Given the description of an element on the screen output the (x, y) to click on. 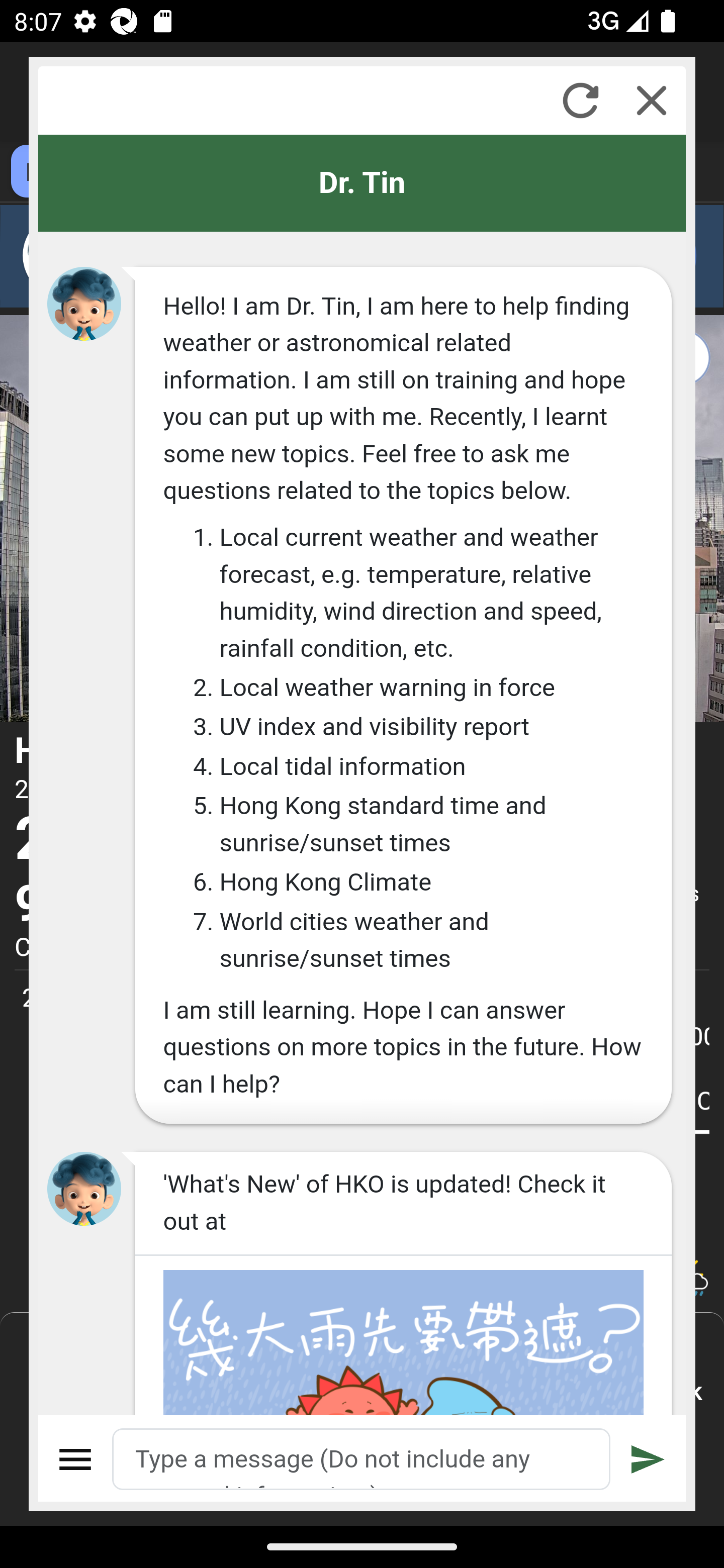
Refresh (580, 100)
Close (651, 100)
Menu (75, 1458)
Submit (648, 1458)
